Given the description of an element on the screen output the (x, y) to click on. 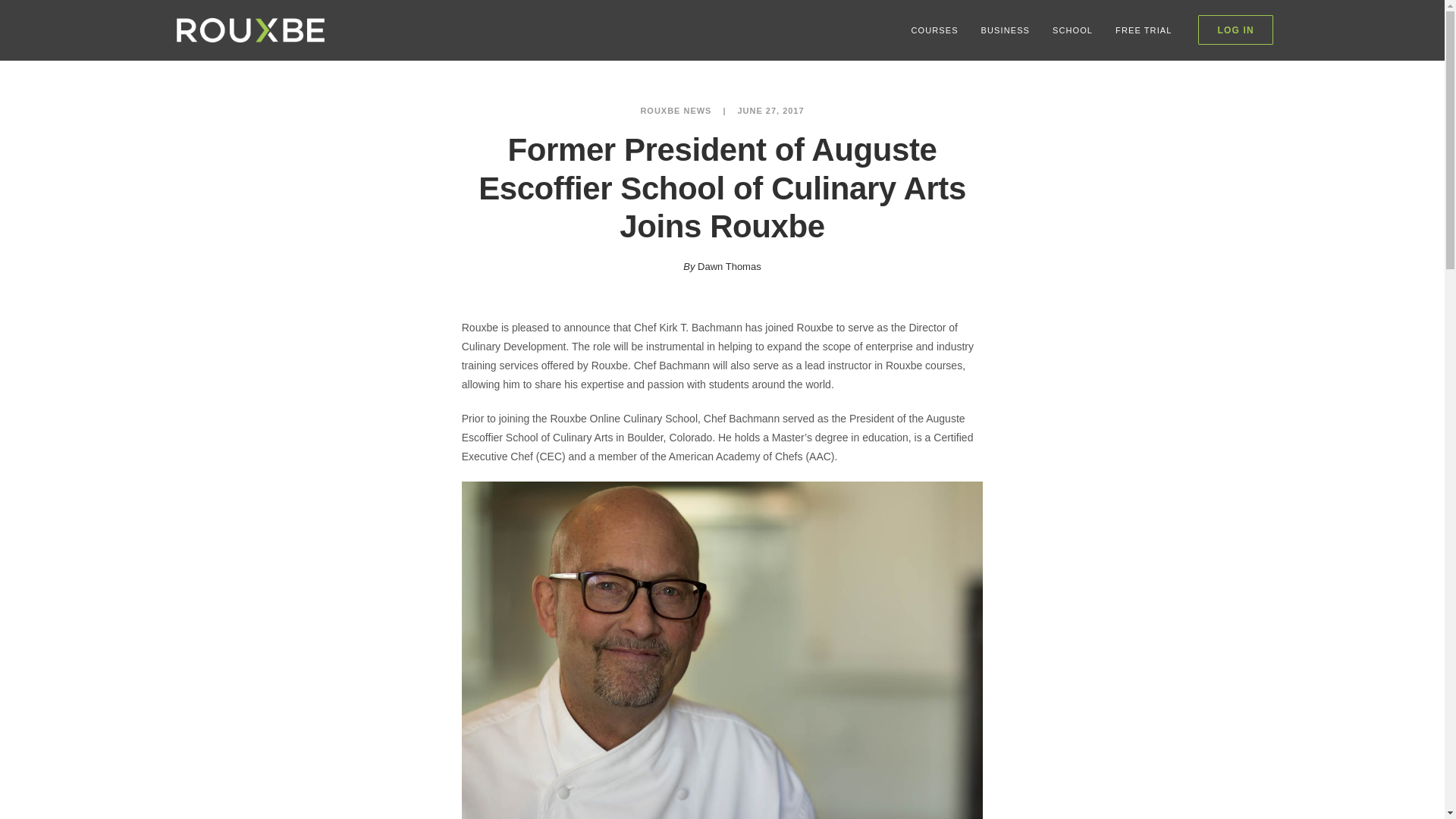
BUSINESS (1005, 30)
Dawn Thomas (729, 266)
FREE TRIAL (1142, 30)
SCHOOL (1072, 30)
LOG IN (1235, 30)
ROUXBE NEWS (675, 111)
Rouxbe News (675, 111)
COURSES (934, 30)
